Given the description of an element on the screen output the (x, y) to click on. 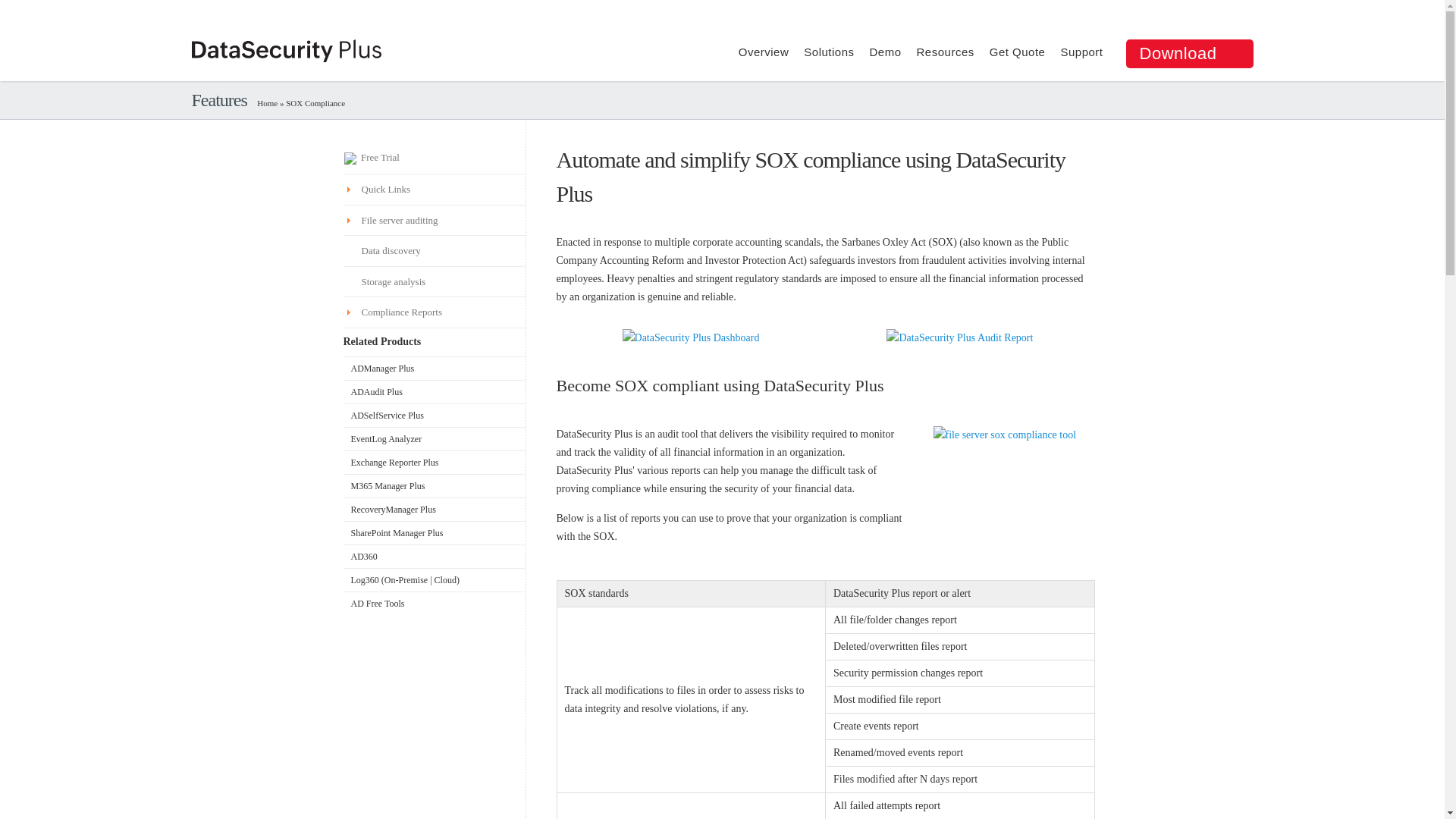
Home (267, 102)
Resources (945, 51)
Demo (885, 51)
  Free Trial (433, 157)
Solutions (828, 51)
Demo (885, 51)
Support (1080, 51)
Solutions (828, 51)
Overview (763, 51)
